Given the description of an element on the screen output the (x, y) to click on. 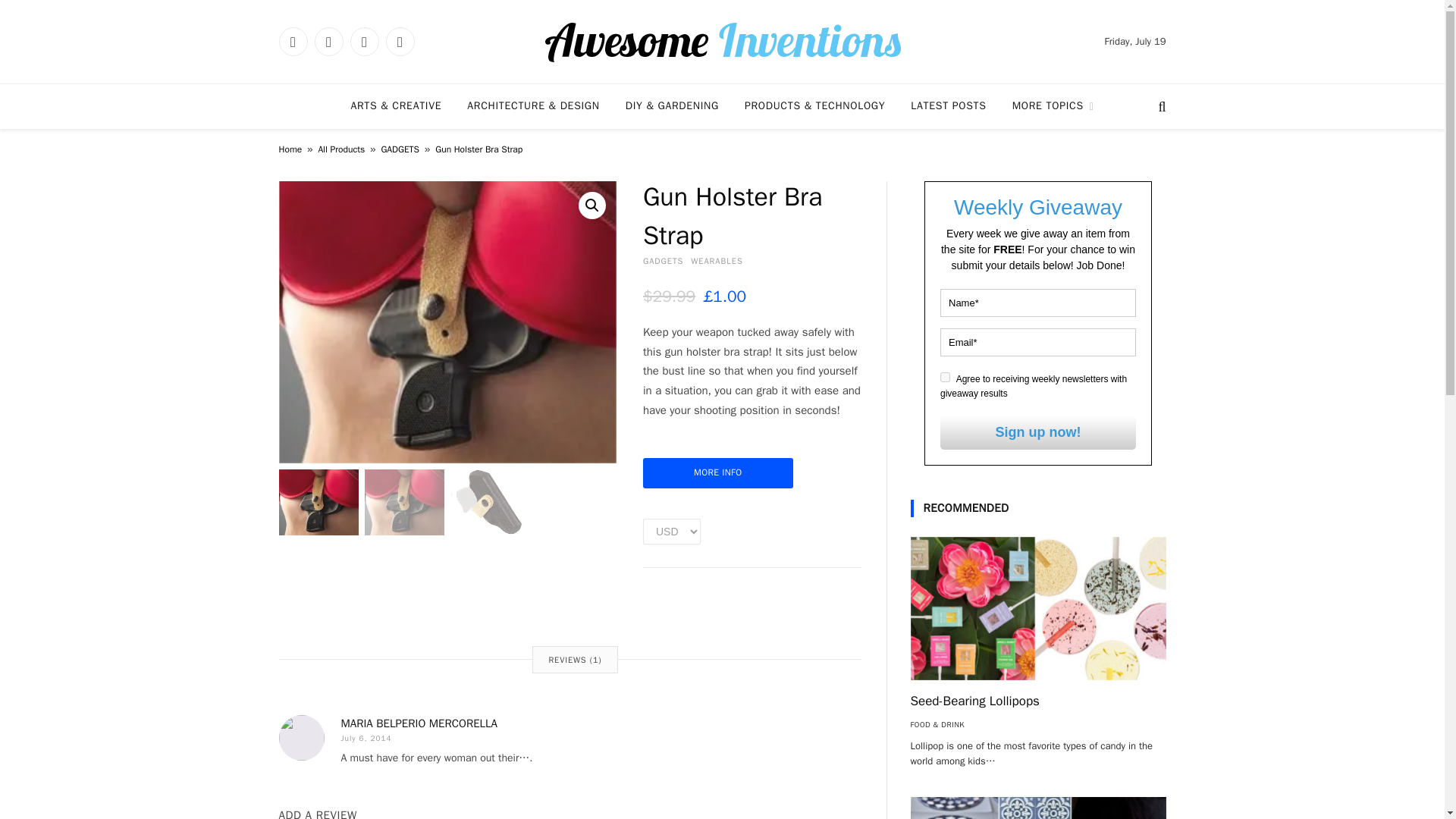
Search (1160, 106)
Pinterest (399, 41)
Select one (671, 531)
GADGETS (662, 260)
Latest Posts (948, 106)
Facebook (293, 41)
MORE TOPICS (1052, 106)
WEARABLES (716, 260)
All Products (341, 149)
Home (290, 149)
Instagram (364, 41)
Gun Holster Bra Strap (447, 321)
Awesome Inventions (721, 41)
GADGETS (399, 149)
MORE INFO (718, 472)
